Given the description of an element on the screen output the (x, y) to click on. 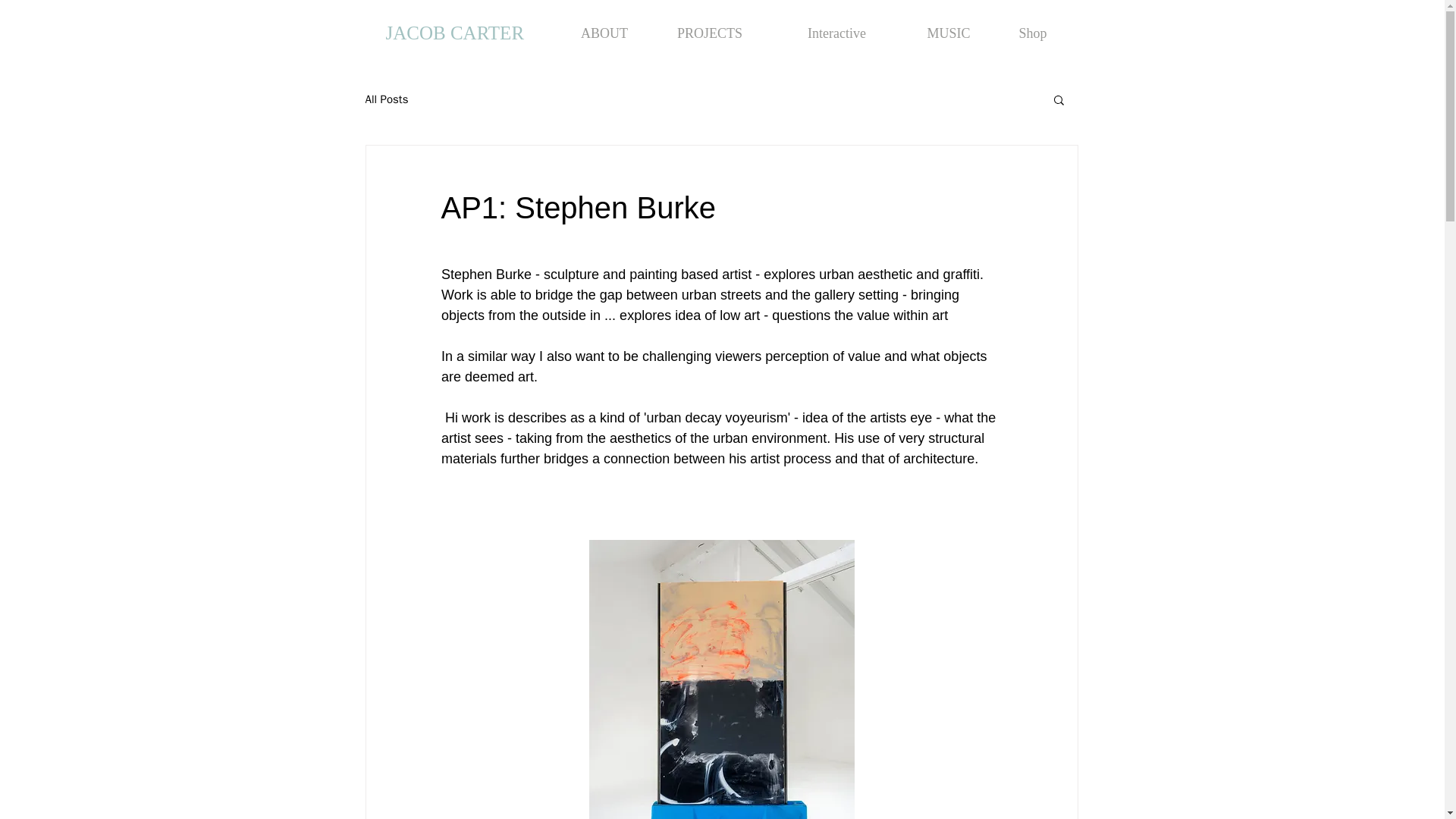
Shop (1032, 33)
All Posts (387, 99)
JACOB CARTER (454, 32)
ABOUT (603, 33)
Interactive (836, 33)
MUSIC (948, 33)
PROJECTS (709, 33)
